Given the description of an element on the screen output the (x, y) to click on. 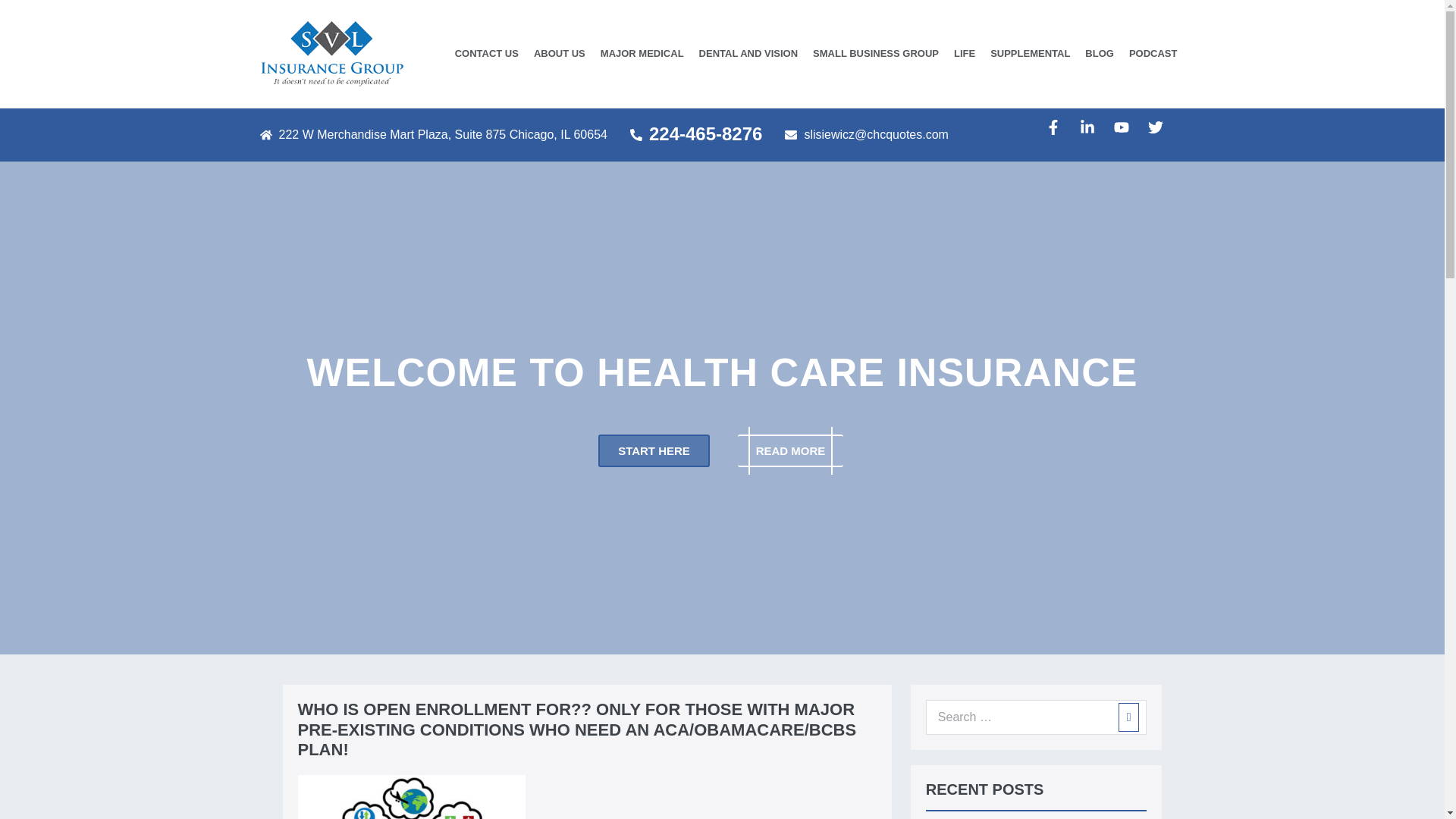
SUPPLEMENTAL (1029, 53)
BLOG (1099, 53)
ABOUT US (558, 53)
DENTAL AND VISION (748, 53)
CONTACT US (485, 53)
LIFE (964, 53)
Press enter to search (1036, 717)
PODCAST (1153, 53)
SMALL BUSINESS GROUP (875, 53)
MAJOR MEDICAL (641, 53)
